Given the description of an element on the screen output the (x, y) to click on. 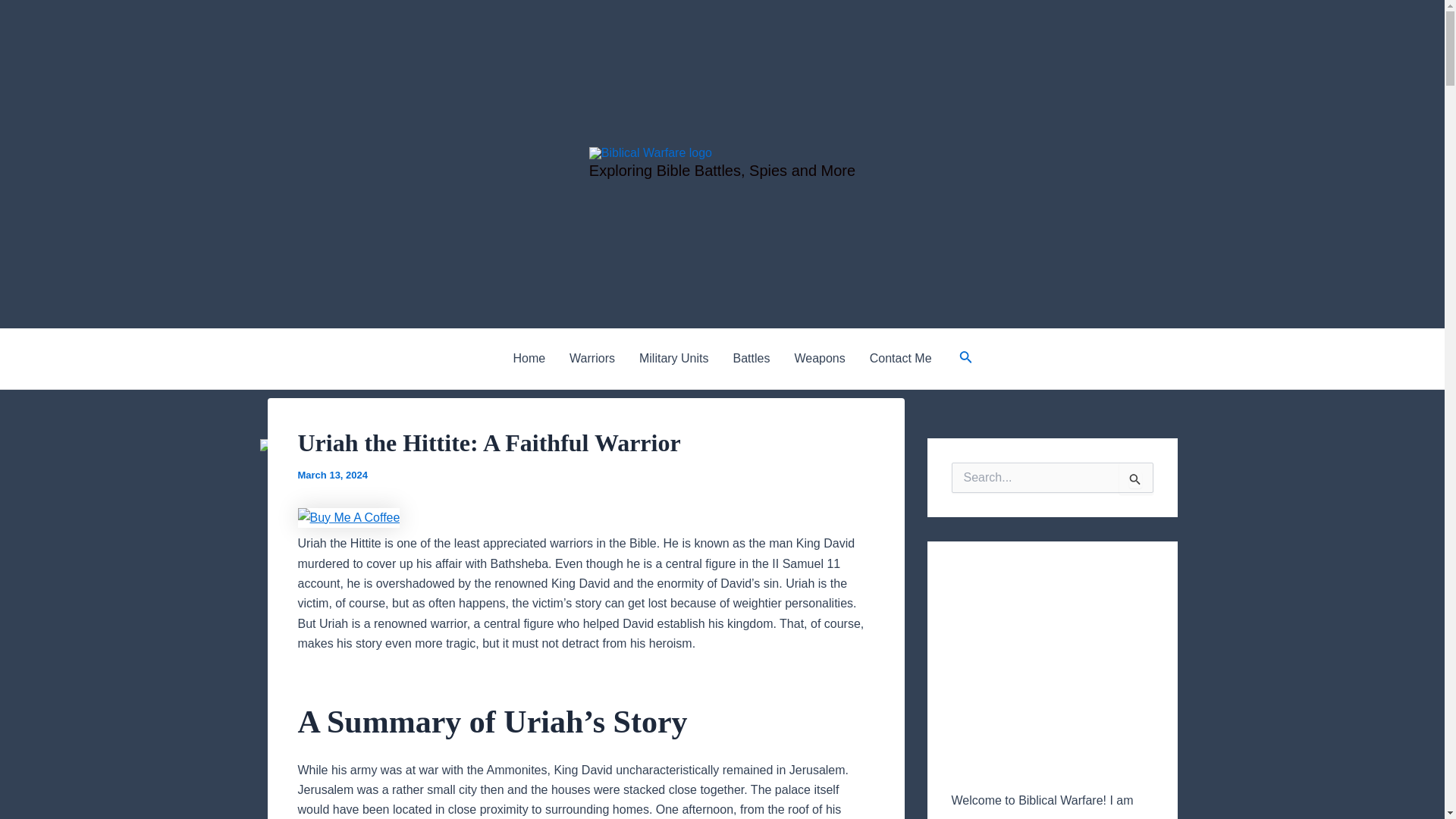
Military Units (673, 358)
Weapons (819, 358)
Battles (751, 358)
Search (1136, 478)
Warriors (592, 358)
Home (528, 358)
Contact Me (900, 358)
Search (1136, 478)
